Given the description of an element on the screen output the (x, y) to click on. 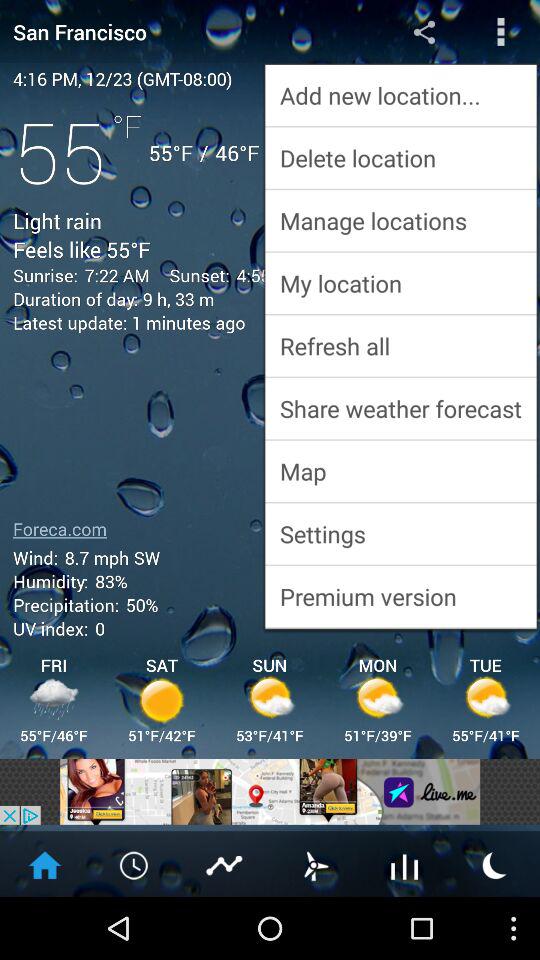
jump to the share weather forecast app (400, 408)
